Given the description of an element on the screen output the (x, y) to click on. 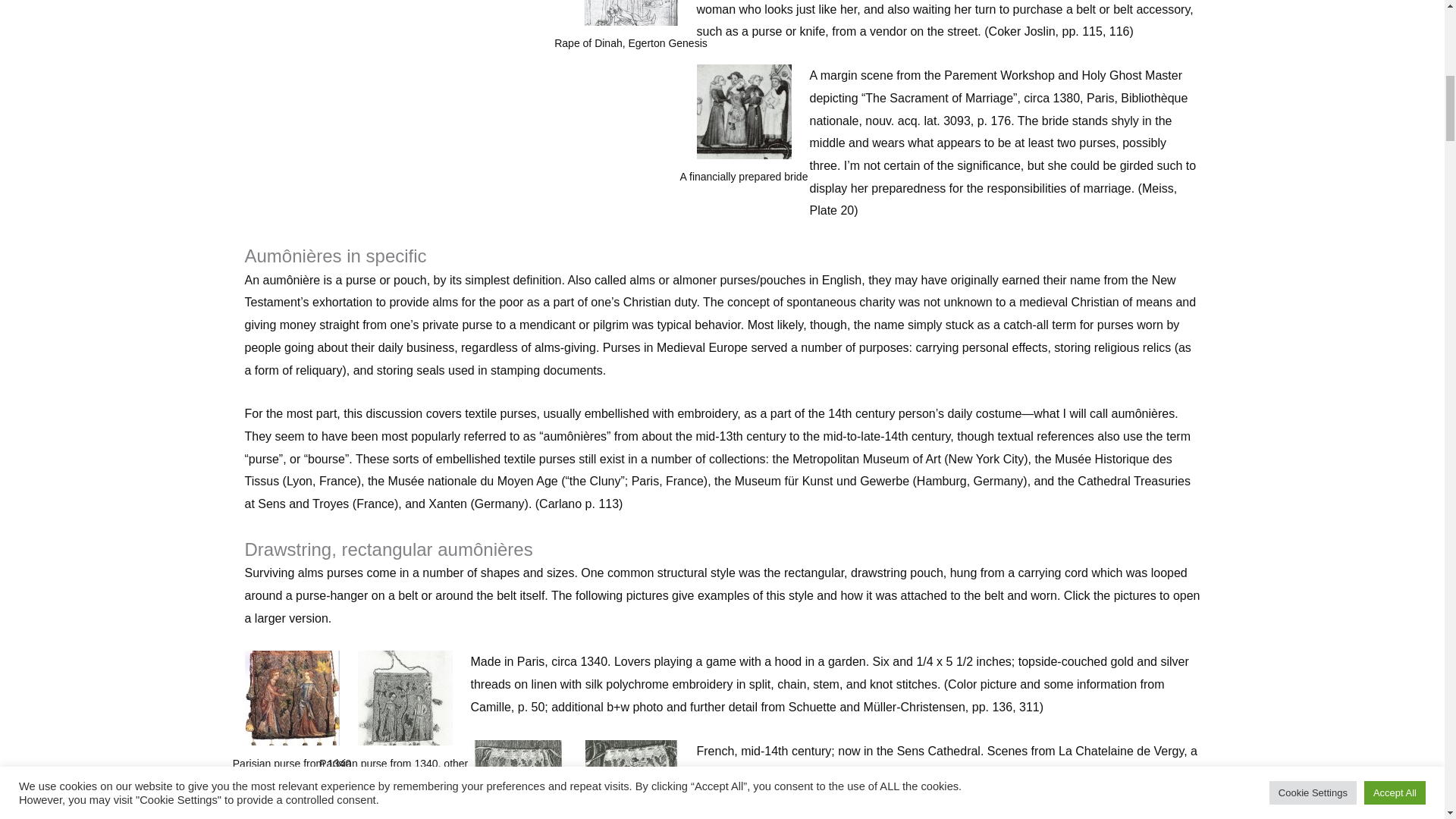
Parisian purse from 1340, other side (405, 697)
Parisian purse from 1340 (291, 697)
Purse in the Sens Cathedral, other side (630, 779)
Purse in the Sens Cathedral (517, 779)
Rape of Dinah, Egerton Genesis (630, 12)
A financially prepared bride (742, 111)
